Given the description of an element on the screen output the (x, y) to click on. 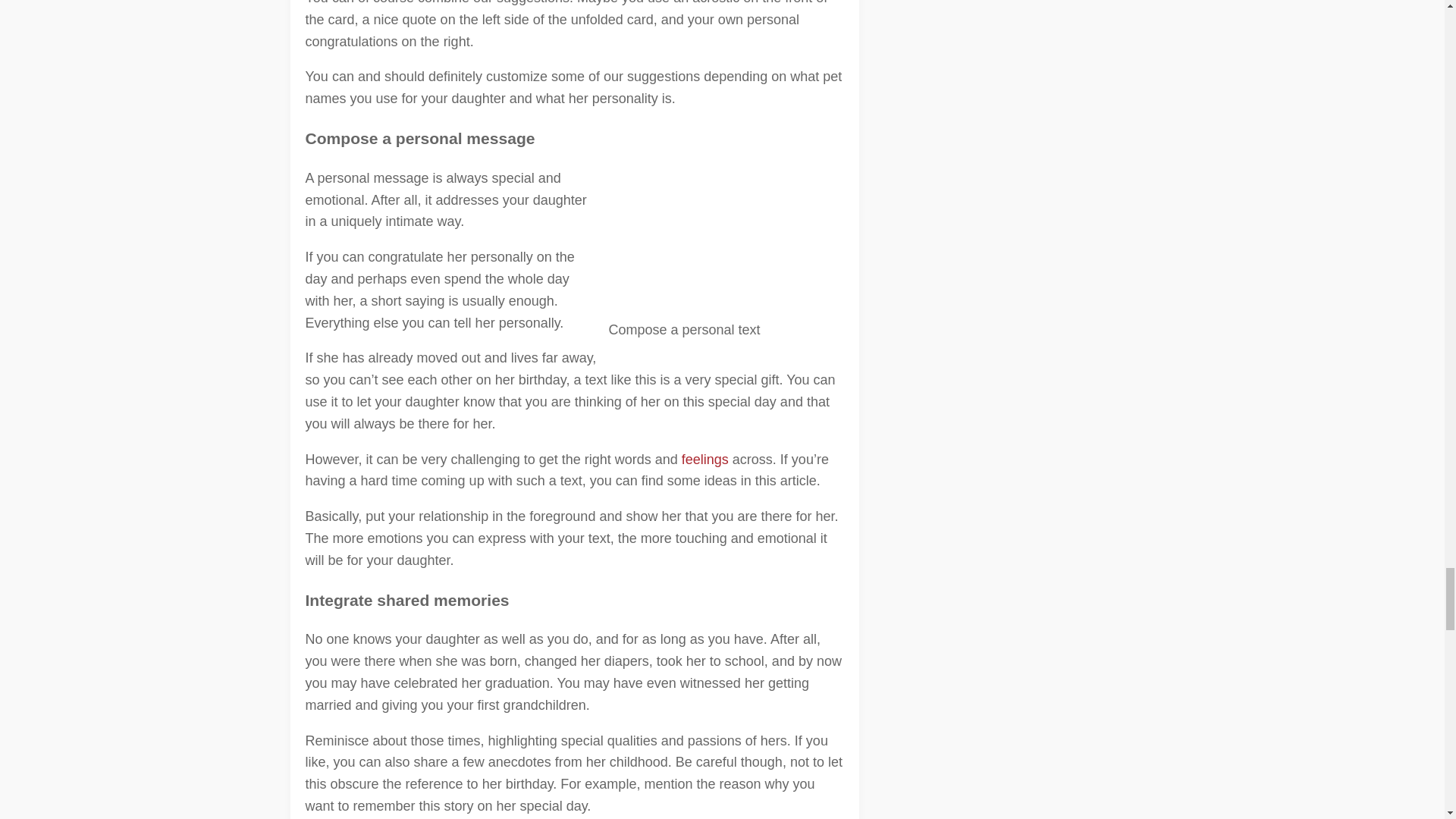
feelings (705, 459)
